Given the description of an element on the screen output the (x, y) to click on. 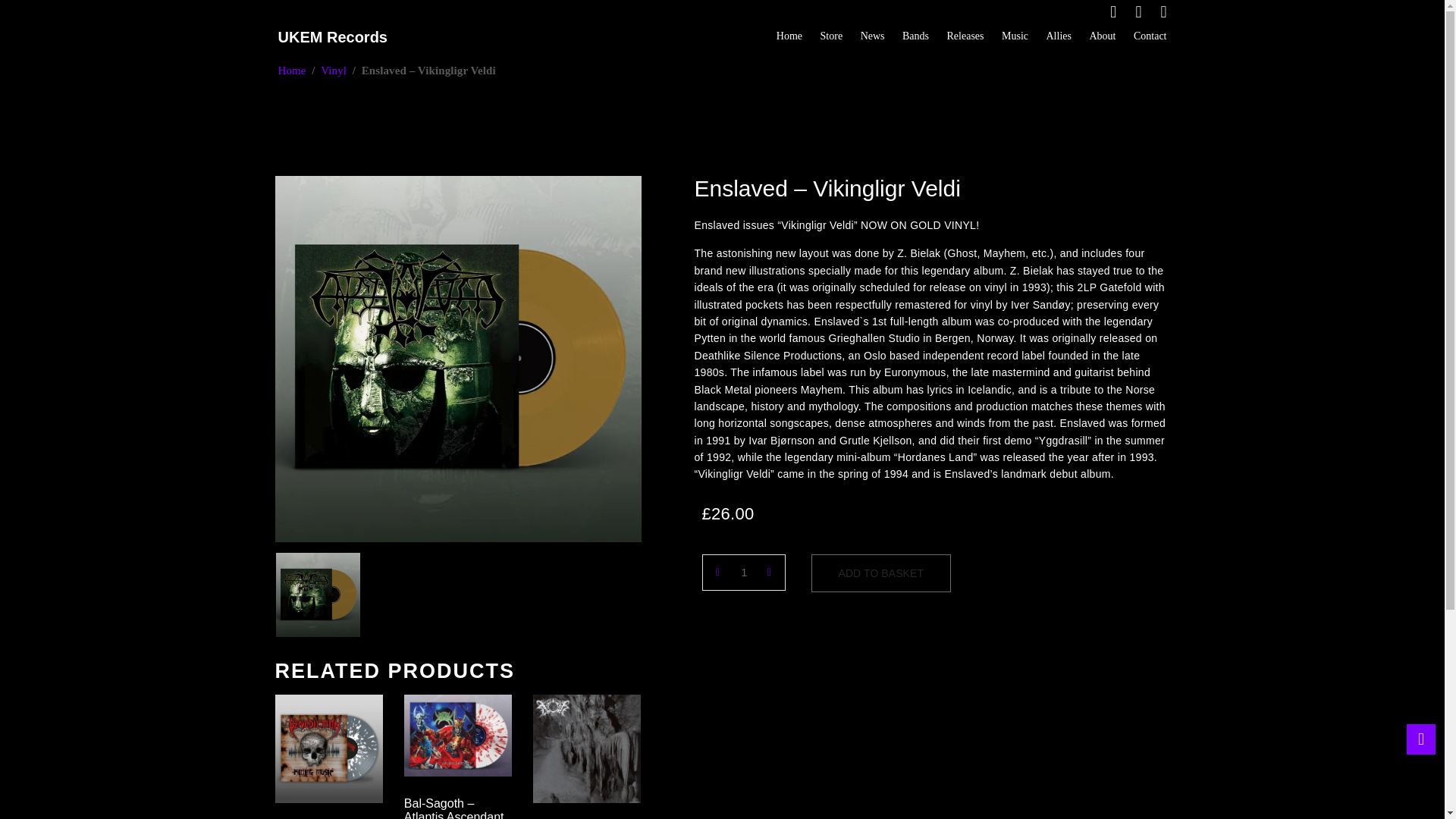
Home (291, 70)
UKEM Records (339, 36)
News (872, 35)
Store (832, 35)
Bands (915, 35)
Music (1014, 35)
UKEM Records (339, 36)
ENSLAVED - VIKINGLIGR VELDI GOLD LP (457, 359)
Vinyl (333, 70)
About (1102, 35)
